Given the description of an element on the screen output the (x, y) to click on. 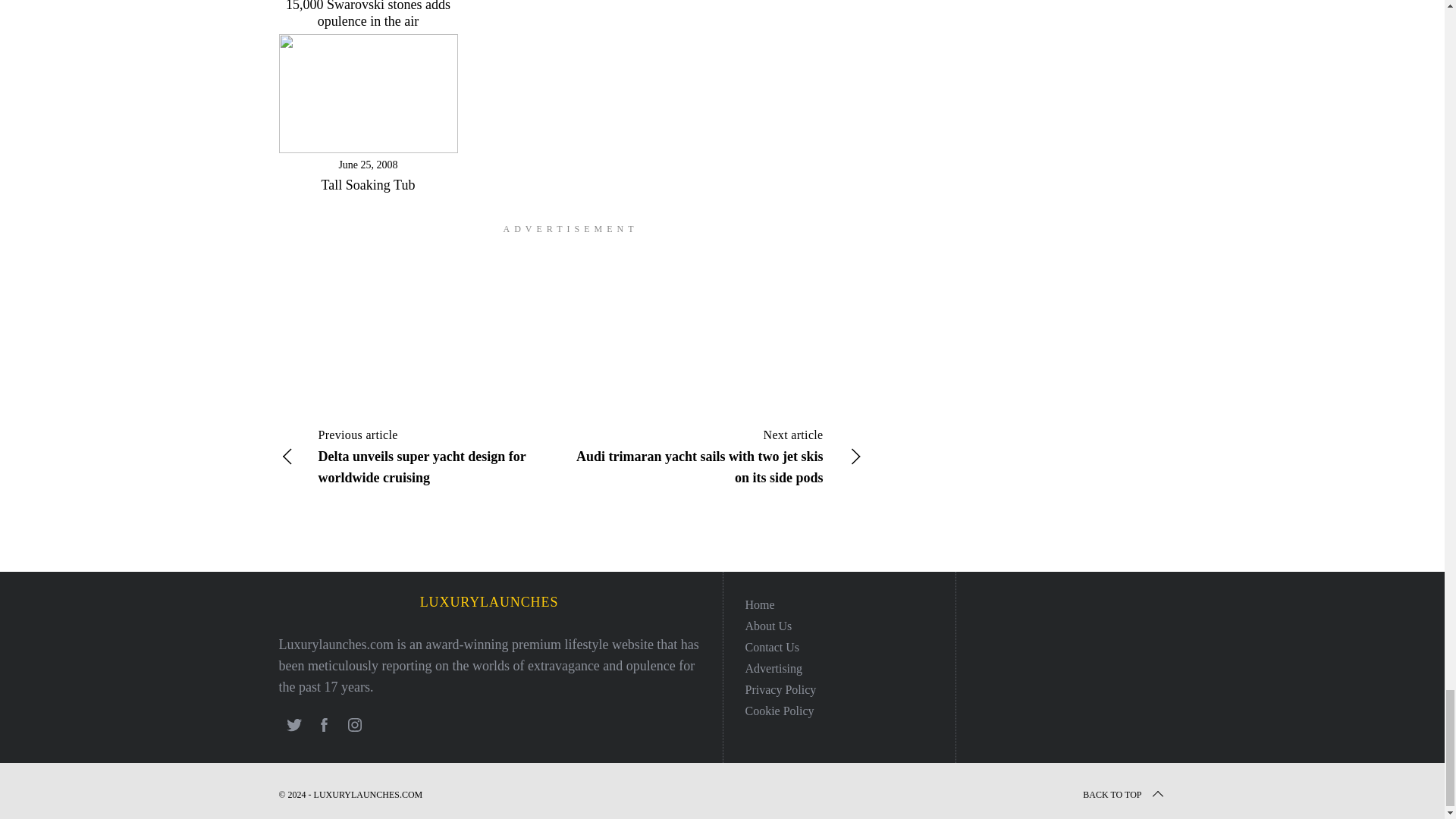
Advertising (773, 667)
Contact us (771, 646)
Cookie Policy (778, 710)
Home (759, 604)
Privacy Policy (779, 689)
About Us (768, 625)
